Given the description of an element on the screen output the (x, y) to click on. 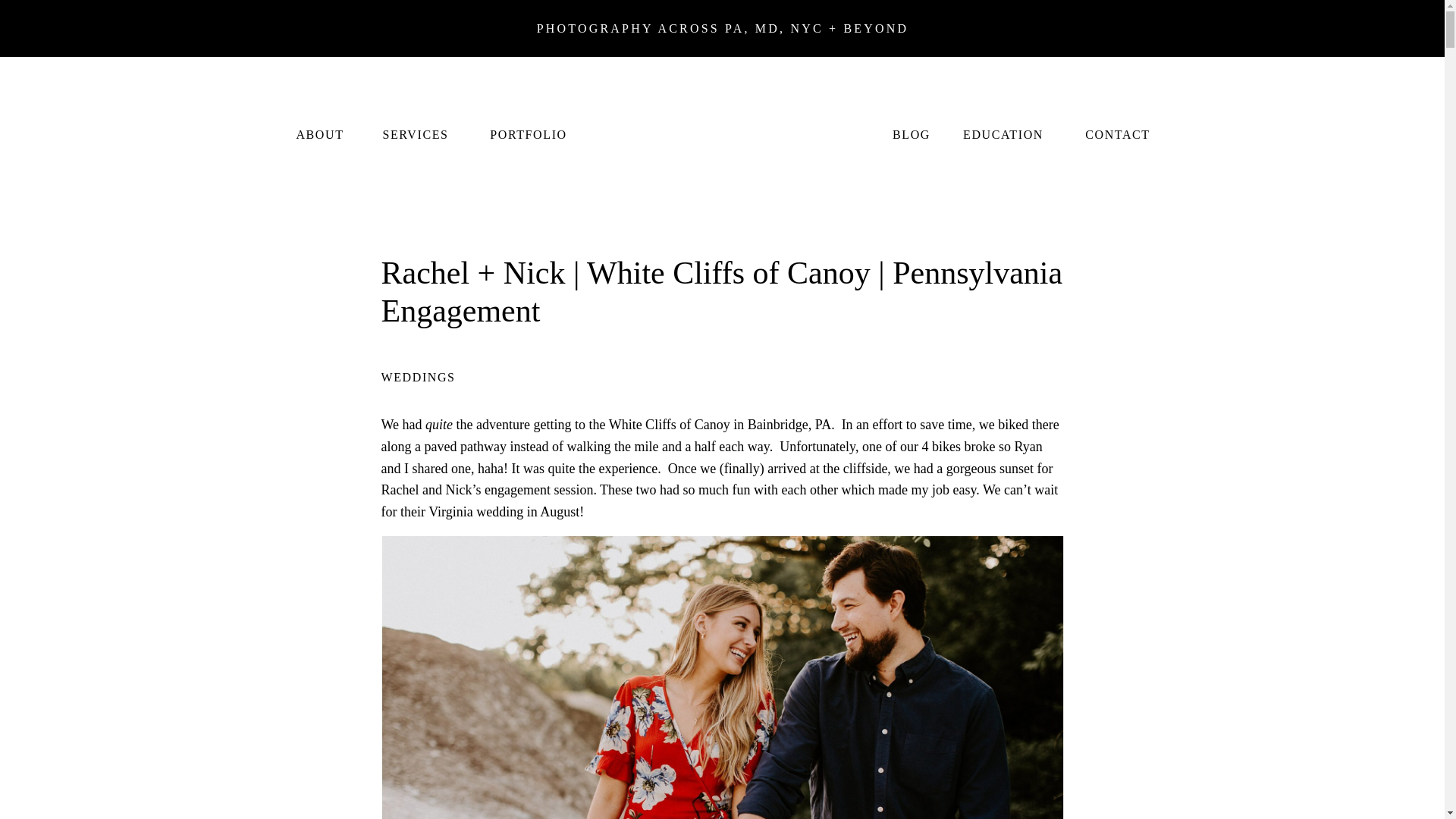
CONTACT (1117, 132)
EDUCATION (1003, 132)
ABOUT (319, 132)
WEDDINGS (417, 377)
SERVICES (414, 132)
BLOG (910, 132)
PORTFOLIO (528, 132)
